Given the description of an element on the screen output the (x, y) to click on. 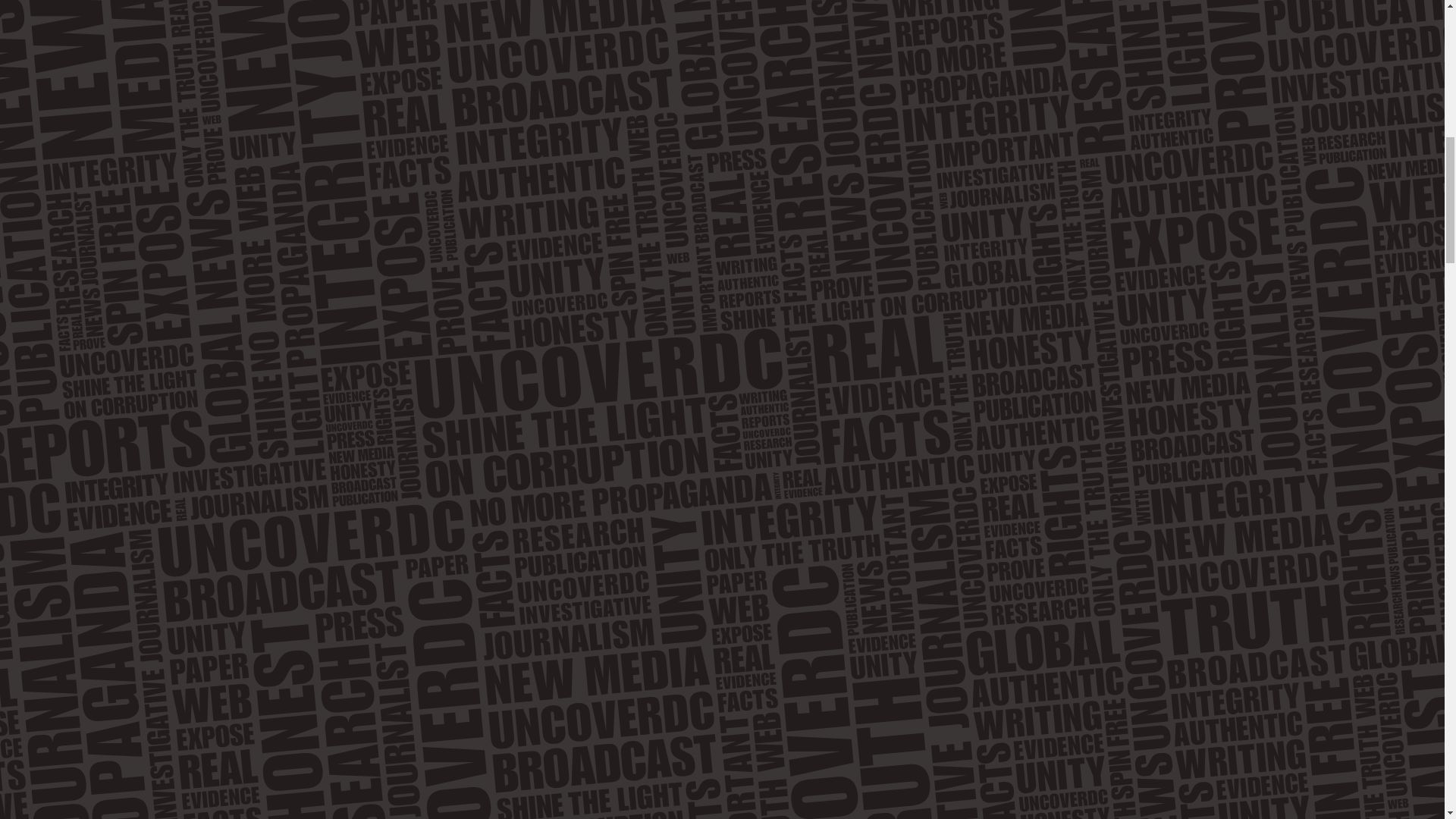
threats (559, 671)
press conference (337, 596)
reports (235, 671)
report (165, 813)
